Given the description of an element on the screen output the (x, y) to click on. 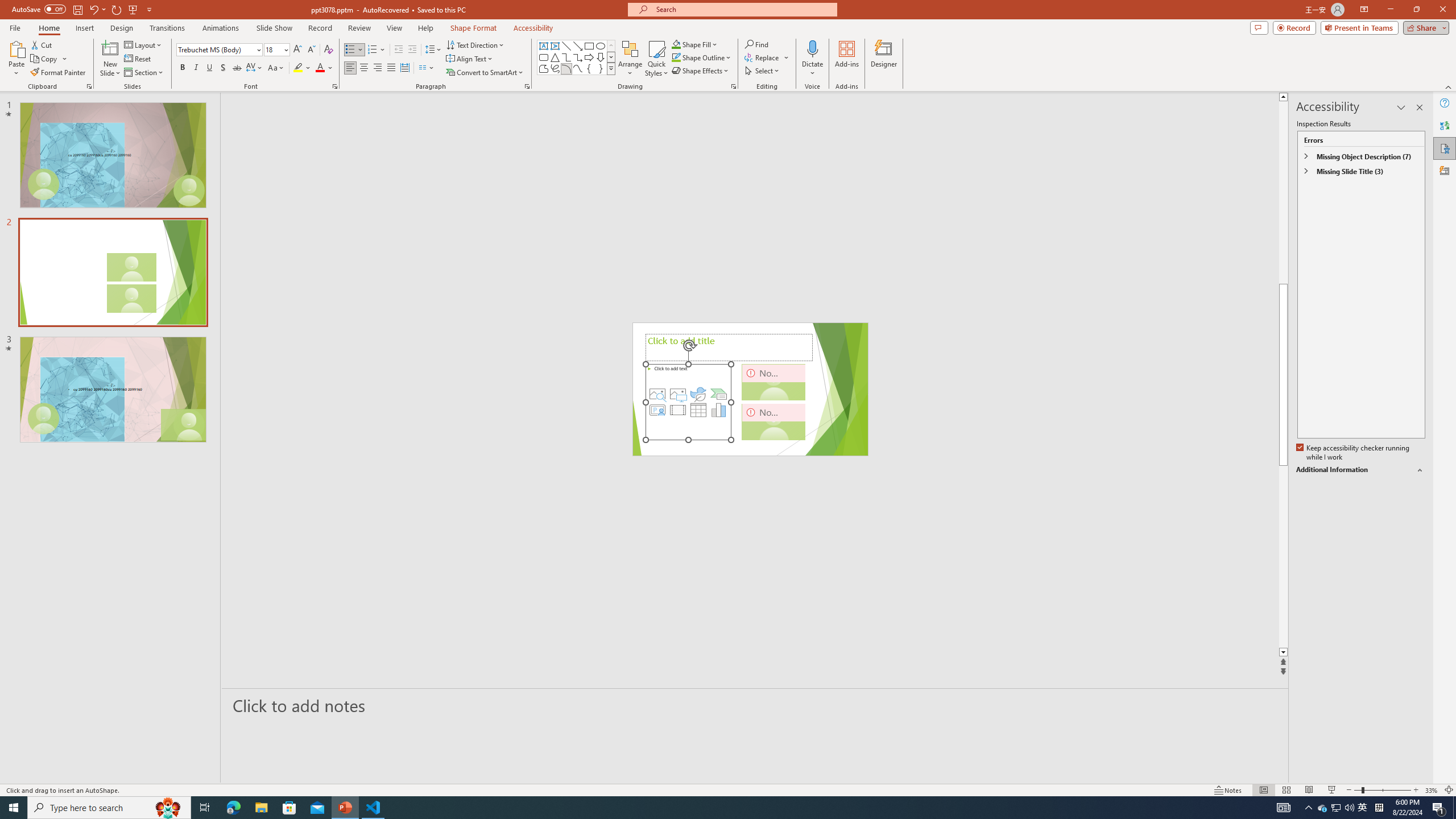
Zoom 33% (1431, 790)
Content Placeholder (688, 401)
Camera 3, No camera detected. (773, 421)
